Given the description of an element on the screen output the (x, y) to click on. 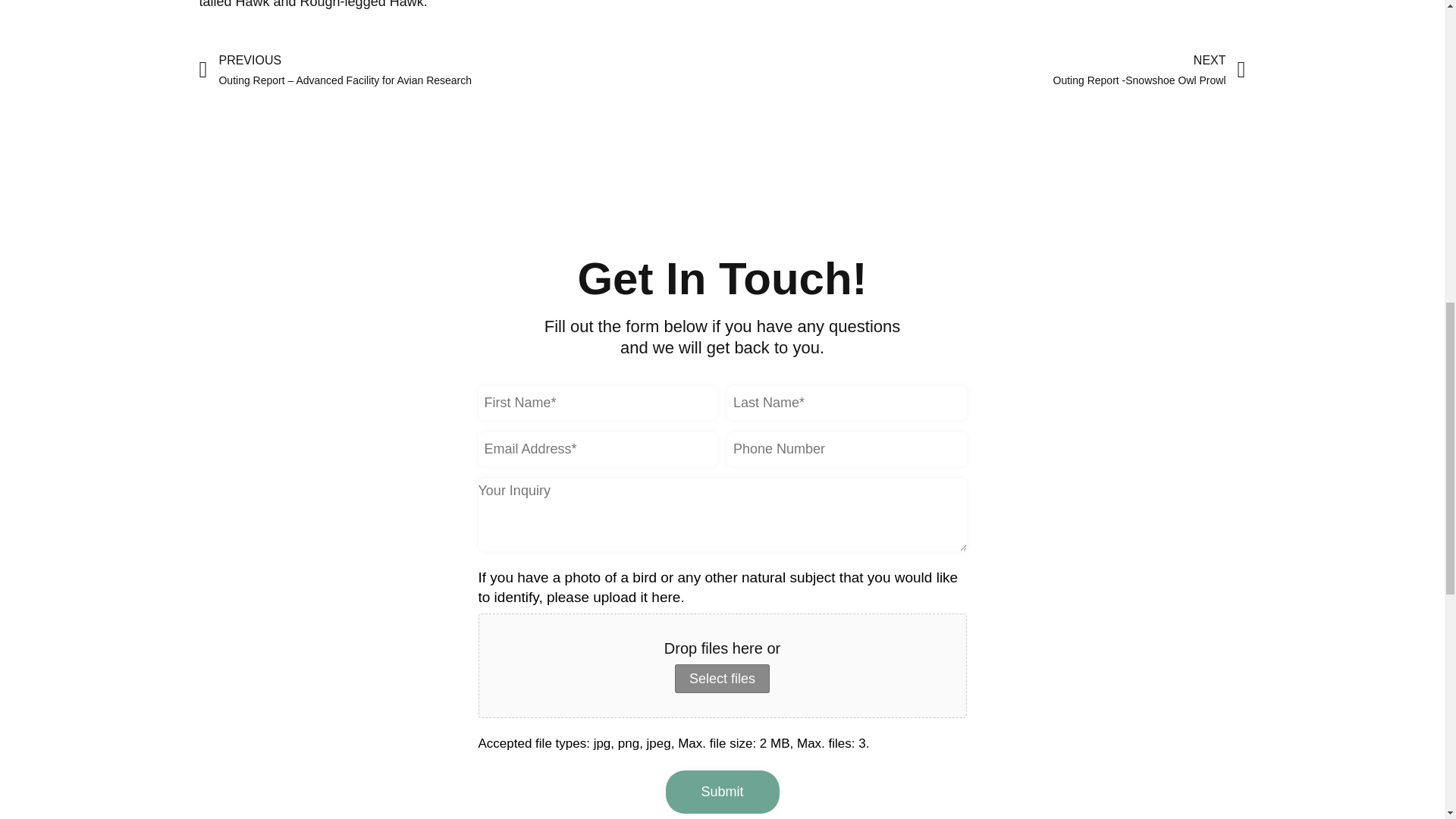
Select files (722, 678)
Submit (721, 792)
Submit (983, 70)
